Given the description of an element on the screen output the (x, y) to click on. 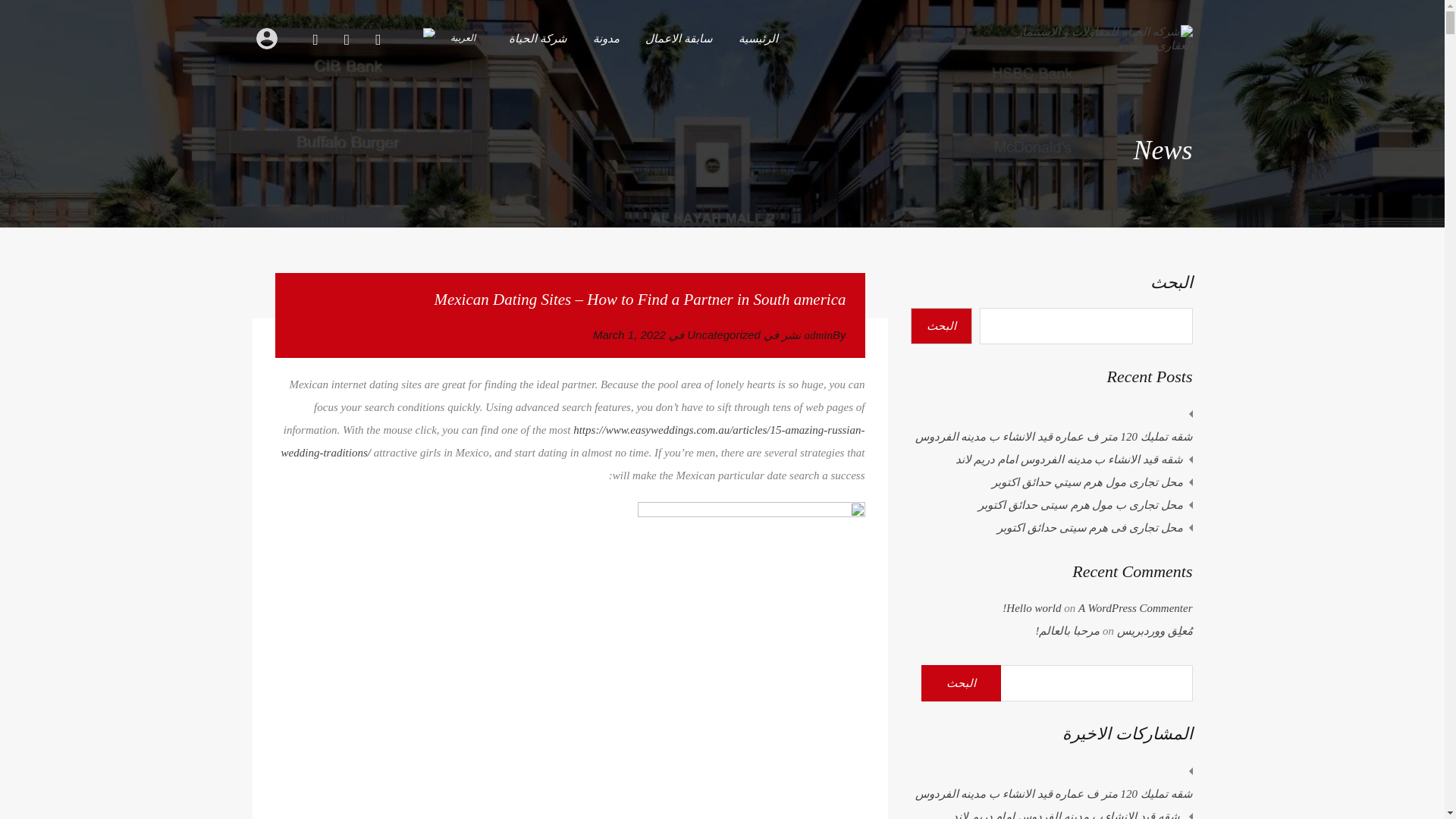
Uncategorized (723, 333)
Hello world! (1032, 608)
A WordPress Commenter (1135, 608)
